Given the description of an element on the screen output the (x, y) to click on. 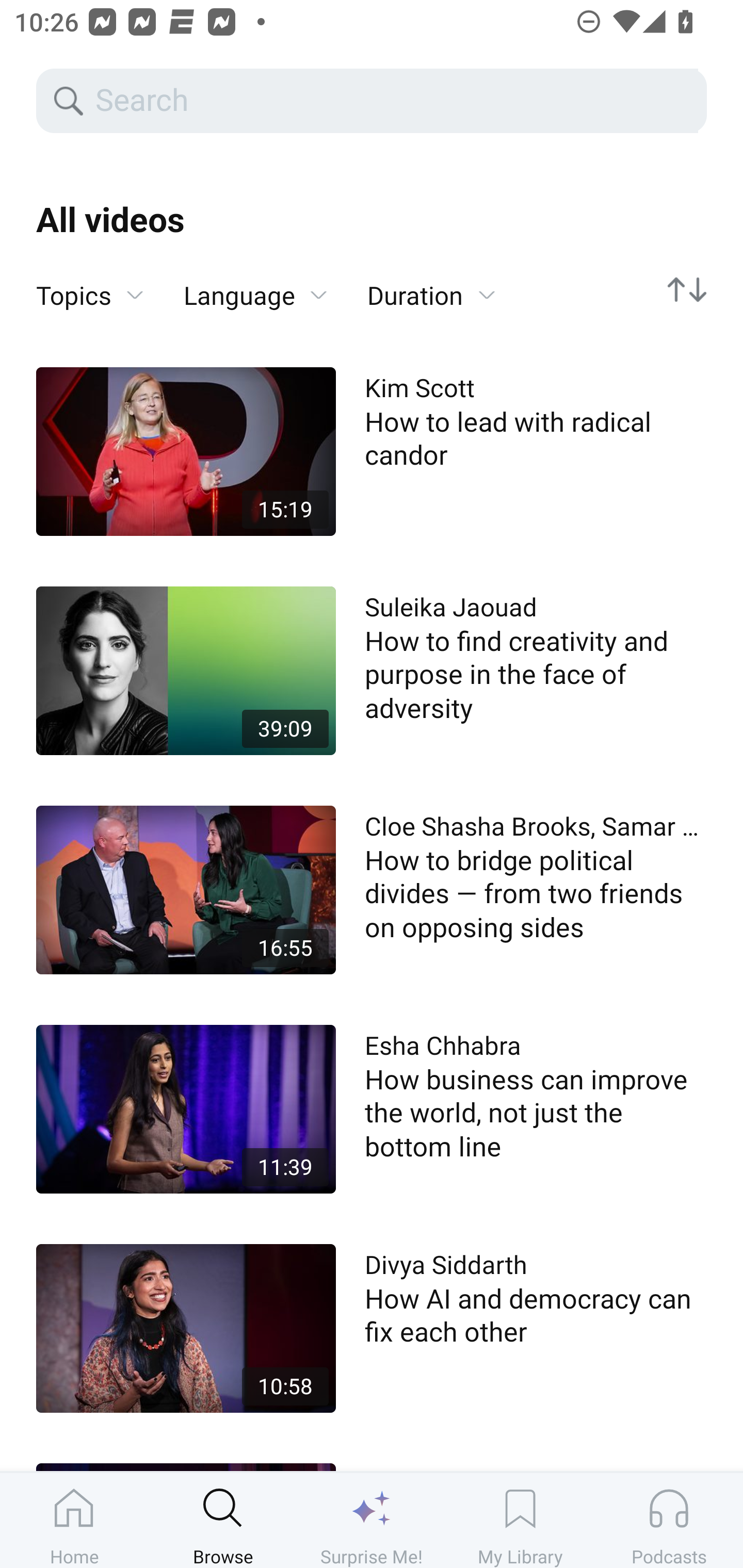
Search (395, 100)
Topics (90, 295)
Language (255, 295)
Duration (431, 295)
15:19 Kim Scott How to lead with radical candor (371, 451)
Home (74, 1520)
Browse (222, 1520)
Surprise Me! (371, 1520)
My Library (519, 1520)
Podcasts (668, 1520)
